Given the description of an element on the screen output the (x, y) to click on. 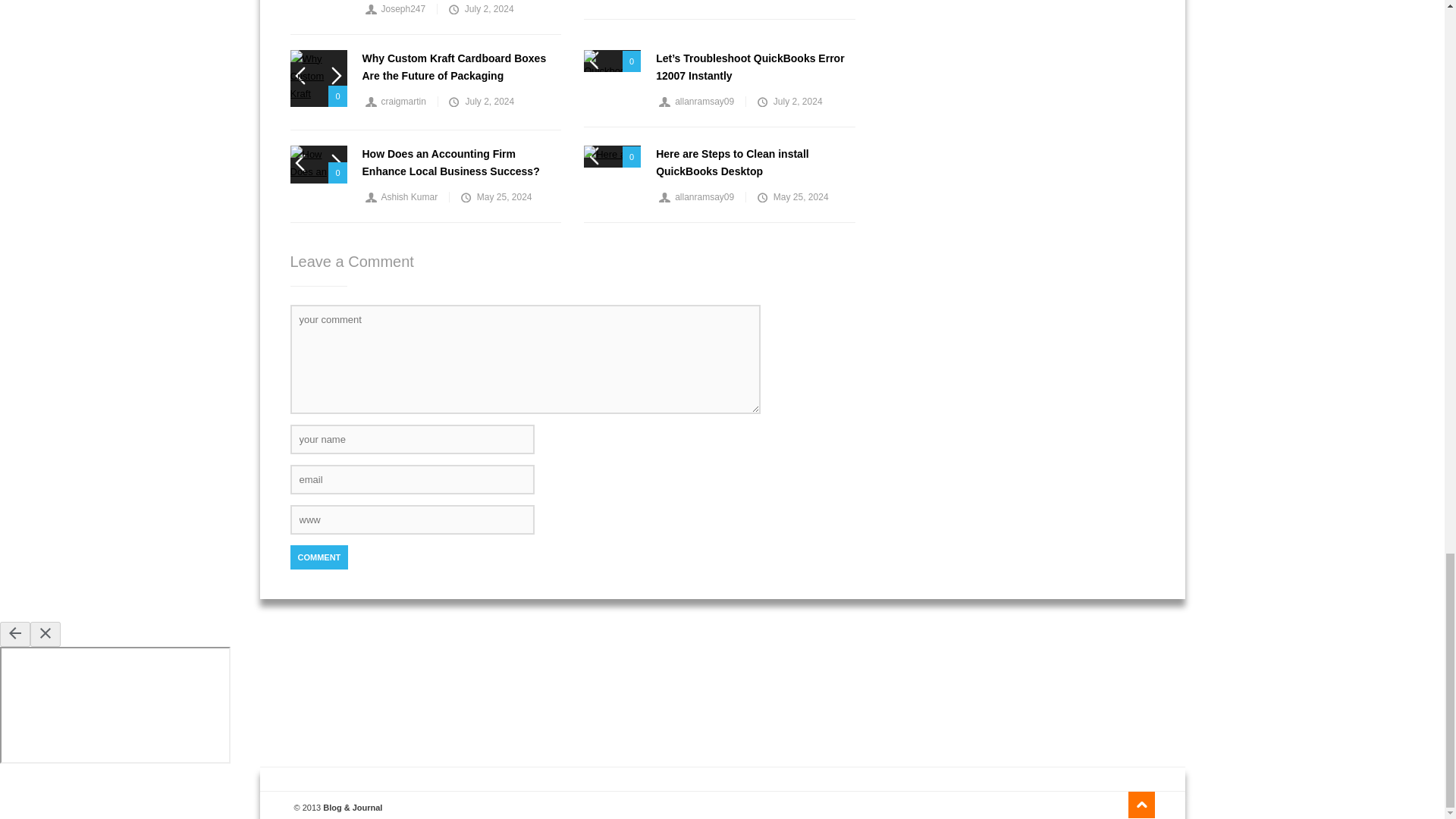
Comment (318, 557)
